Given the description of an element on the screen output the (x, y) to click on. 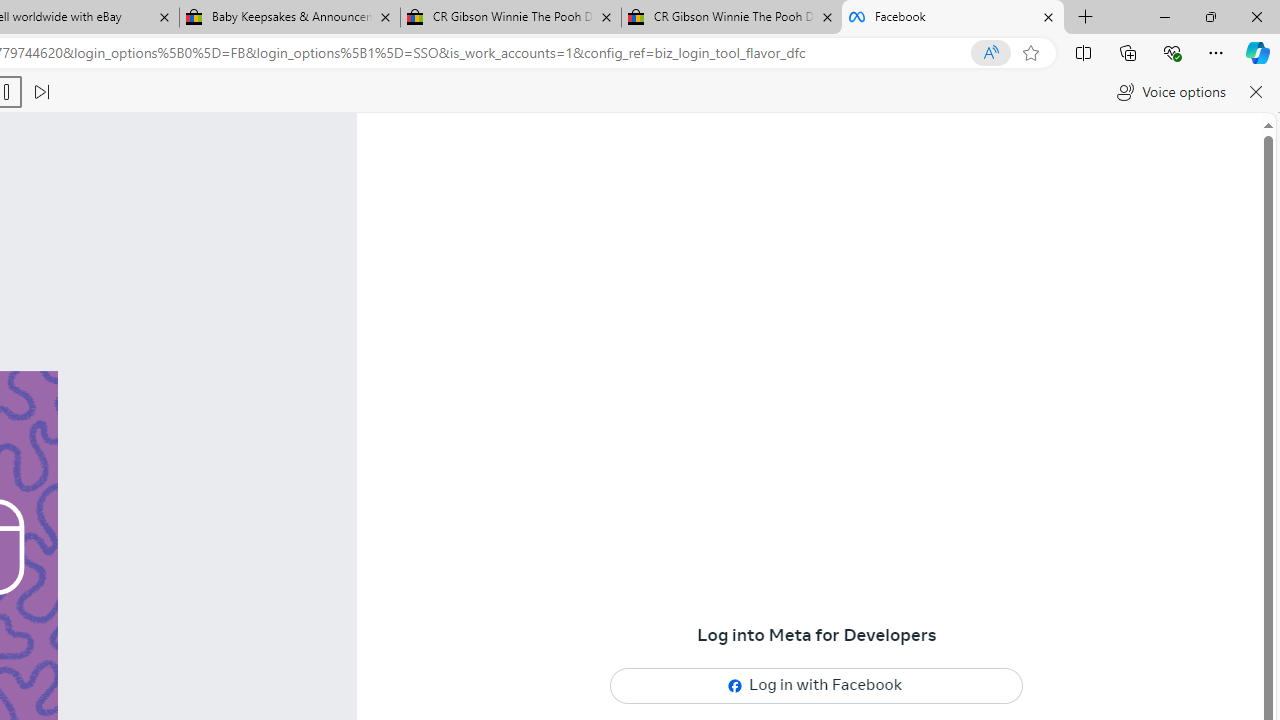
Close read aloud (1255, 92)
Read next paragraph (40, 92)
Log in with Facebook (817, 685)
Voice options (1170, 92)
